Given the description of an element on the screen output the (x, y) to click on. 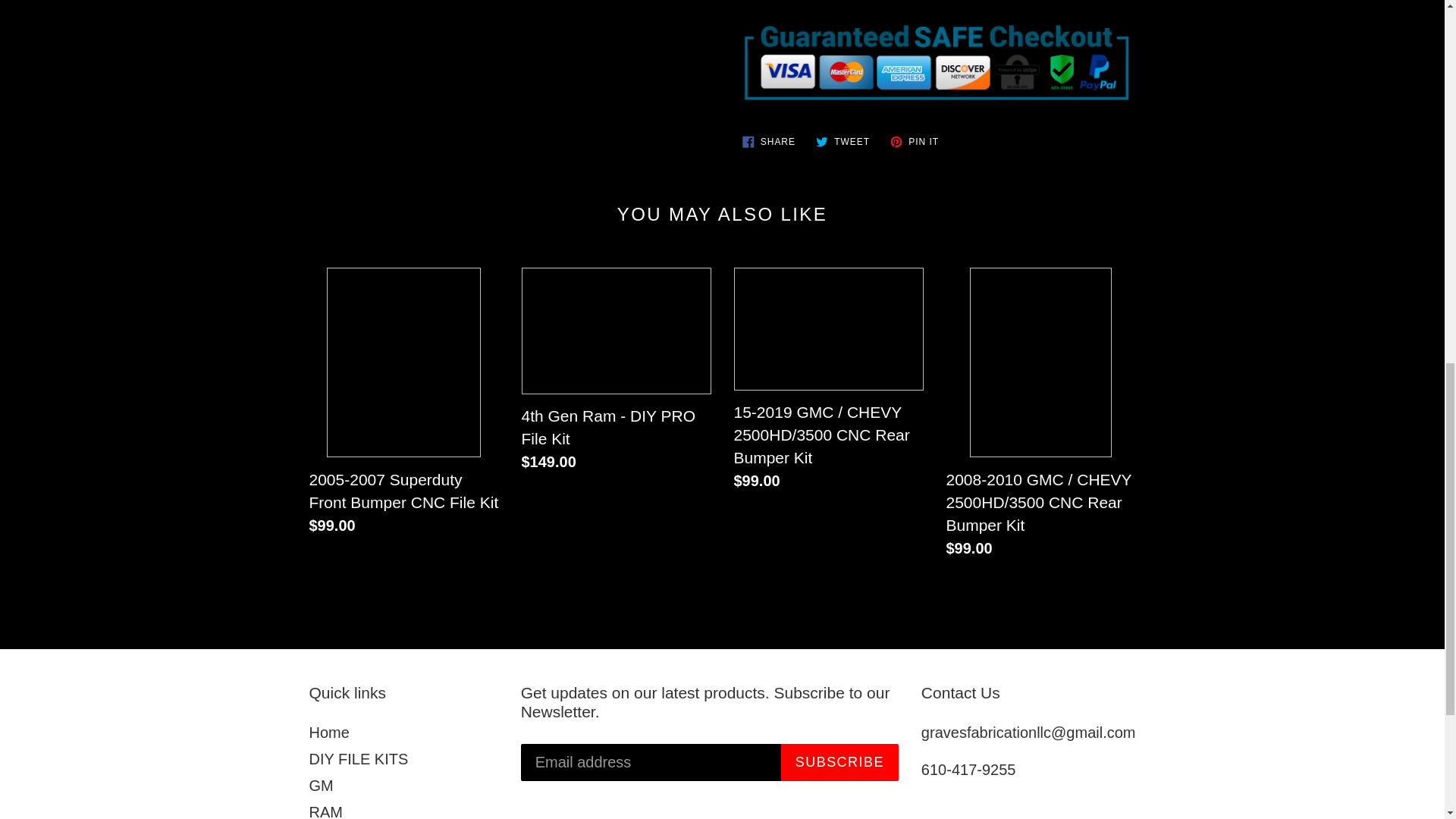
4th Gen Ram - DIY PRO File Kit (768, 141)
